Given the description of an element on the screen output the (x, y) to click on. 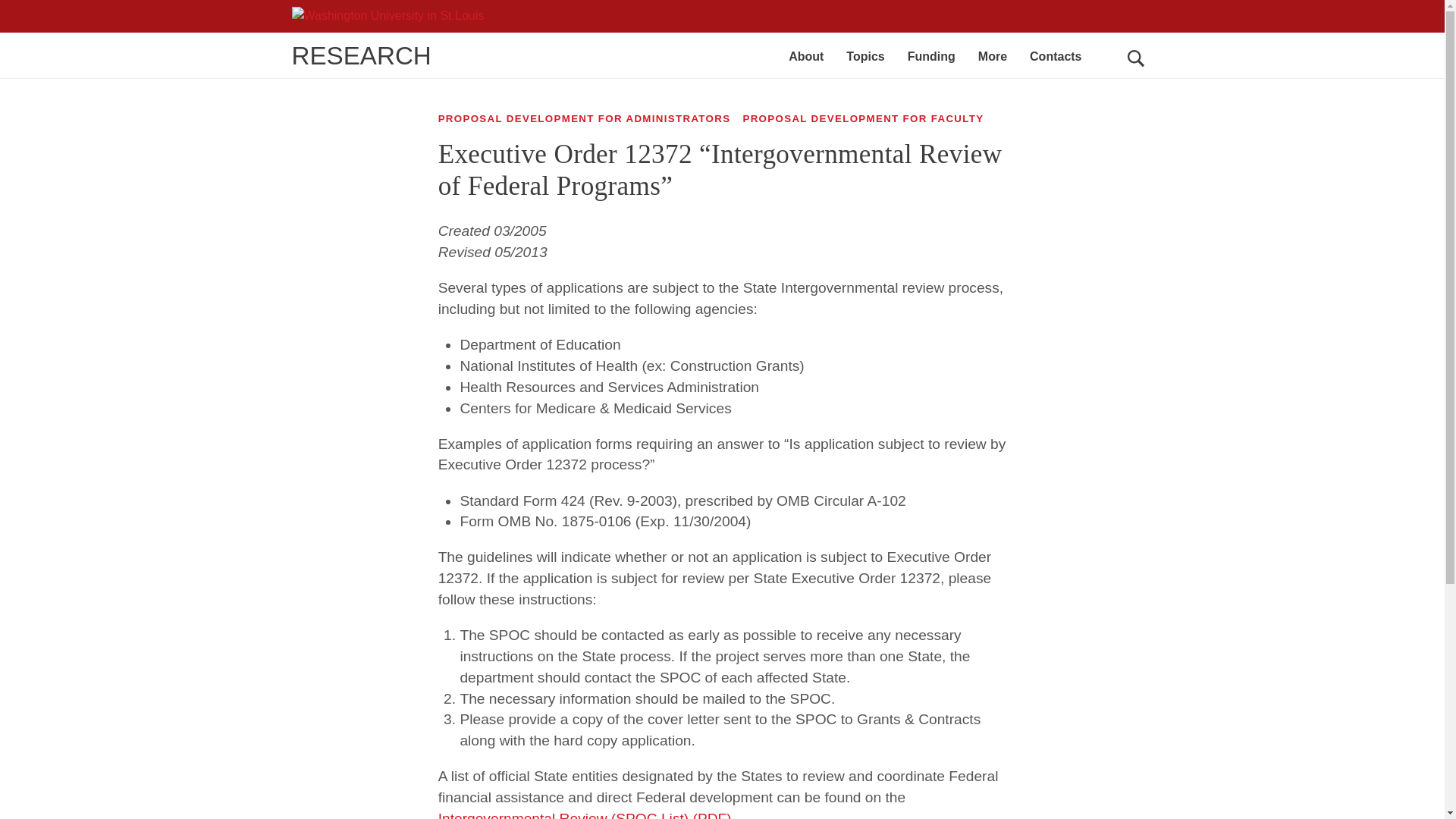
Funding (931, 55)
RESEARCH (360, 55)
